Given the description of an element on the screen output the (x, y) to click on. 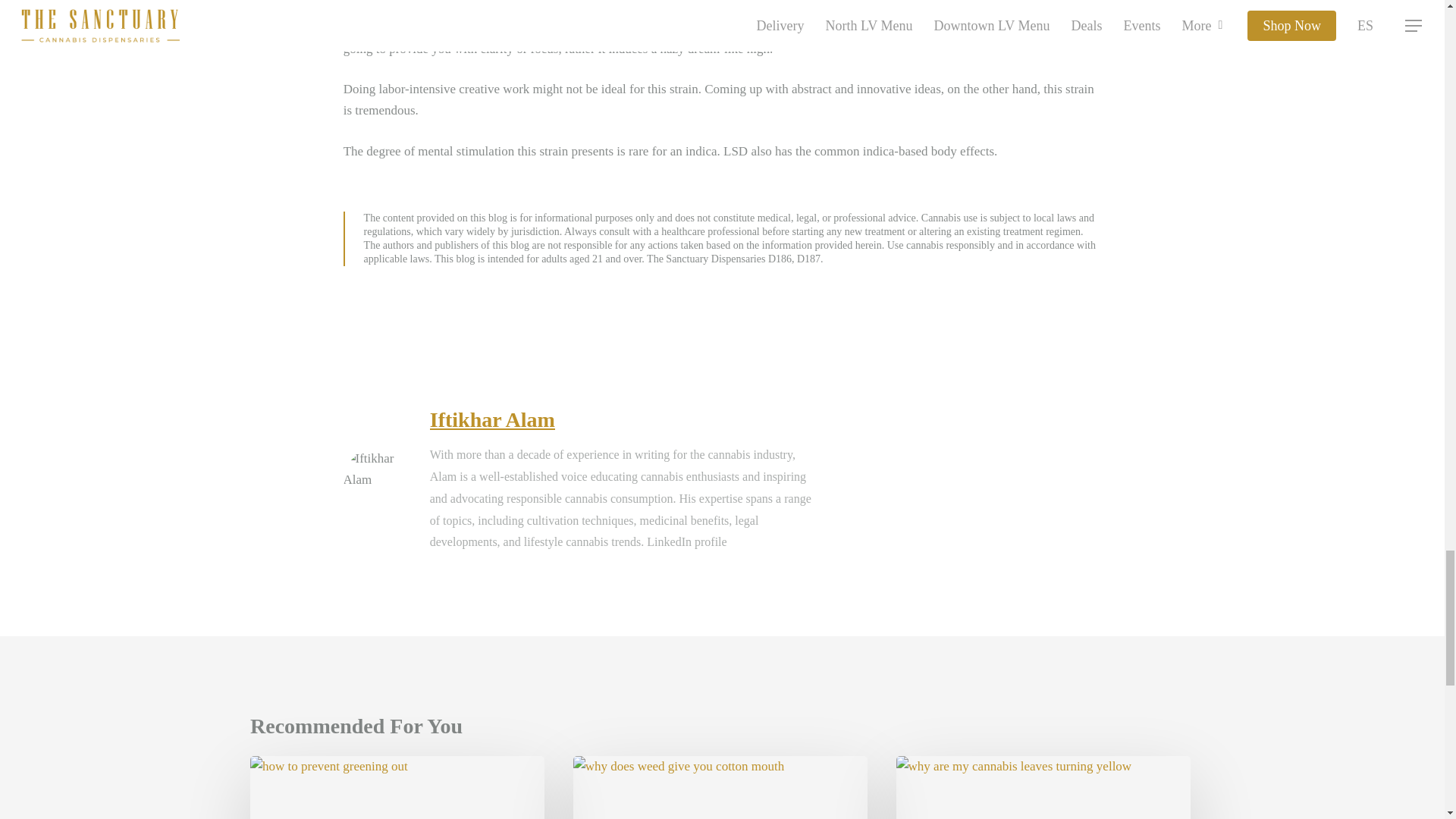
Best Strains for Creativity (1043, 787)
Best Strains for Creativity (397, 787)
Best Strains for Creativity (720, 787)
